Given the description of an element on the screen output the (x, y) to click on. 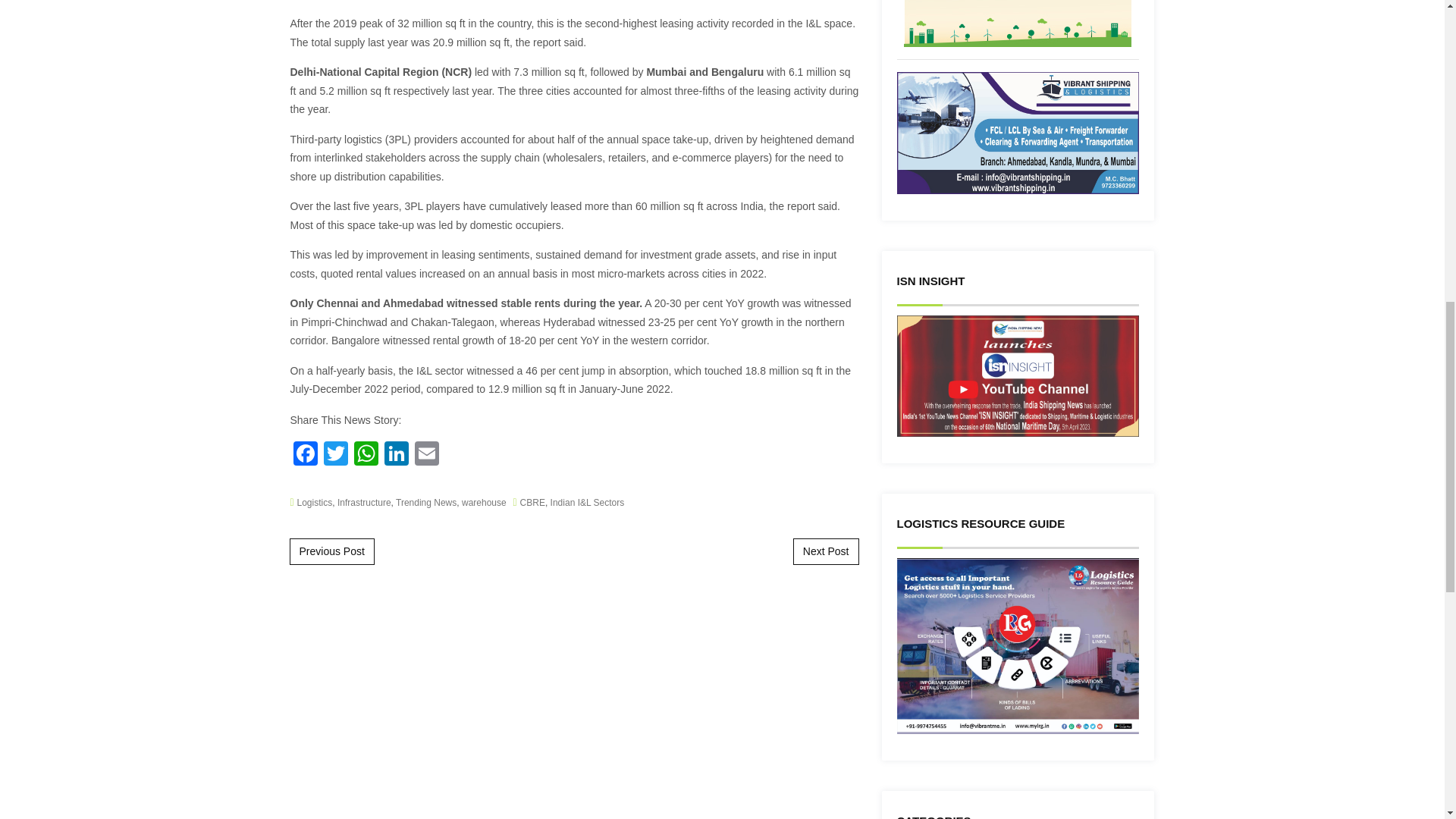
Email (425, 455)
LinkedIn (395, 455)
WhatsApp (365, 455)
Facebook (304, 455)
Twitter (335, 455)
